Given the description of an element on the screen output the (x, y) to click on. 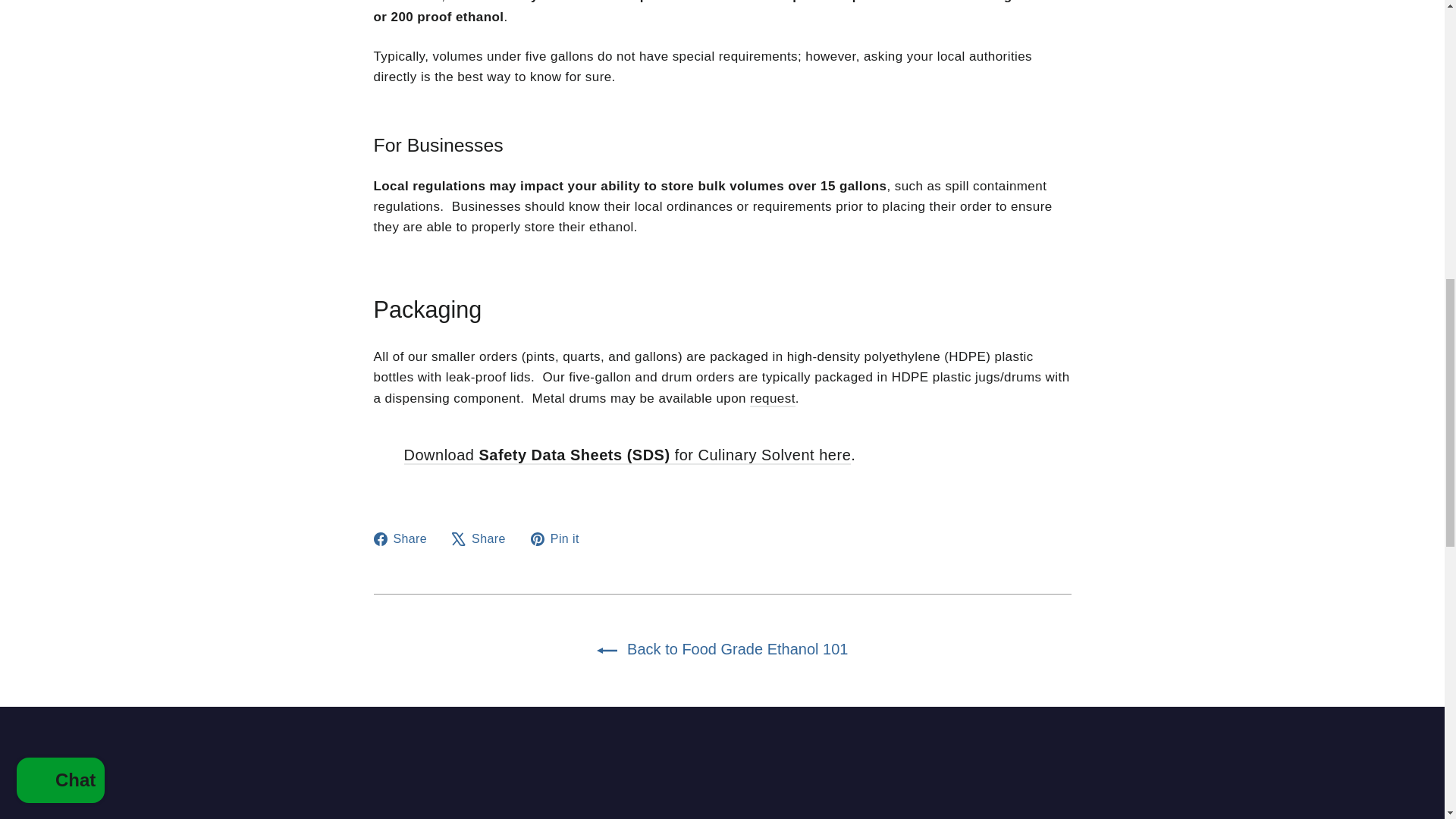
icon-left-arrow (606, 650)
Tweet on X (483, 538)
Share on Facebook (405, 538)
Pin on Pinterest (561, 538)
